Given the description of an element on the screen output the (x, y) to click on. 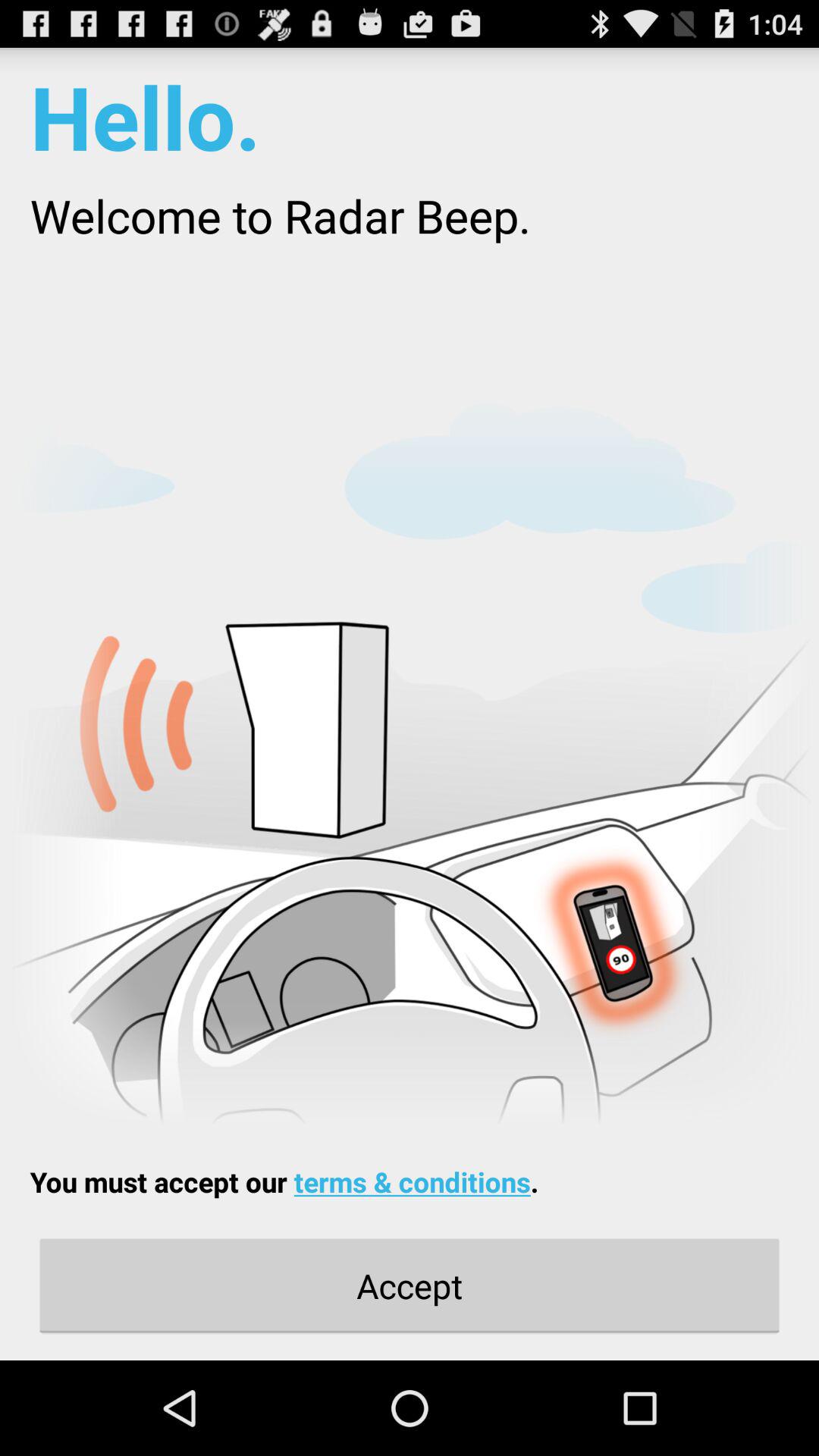
open you must accept icon (284, 1181)
